Given the description of an element on the screen output the (x, y) to click on. 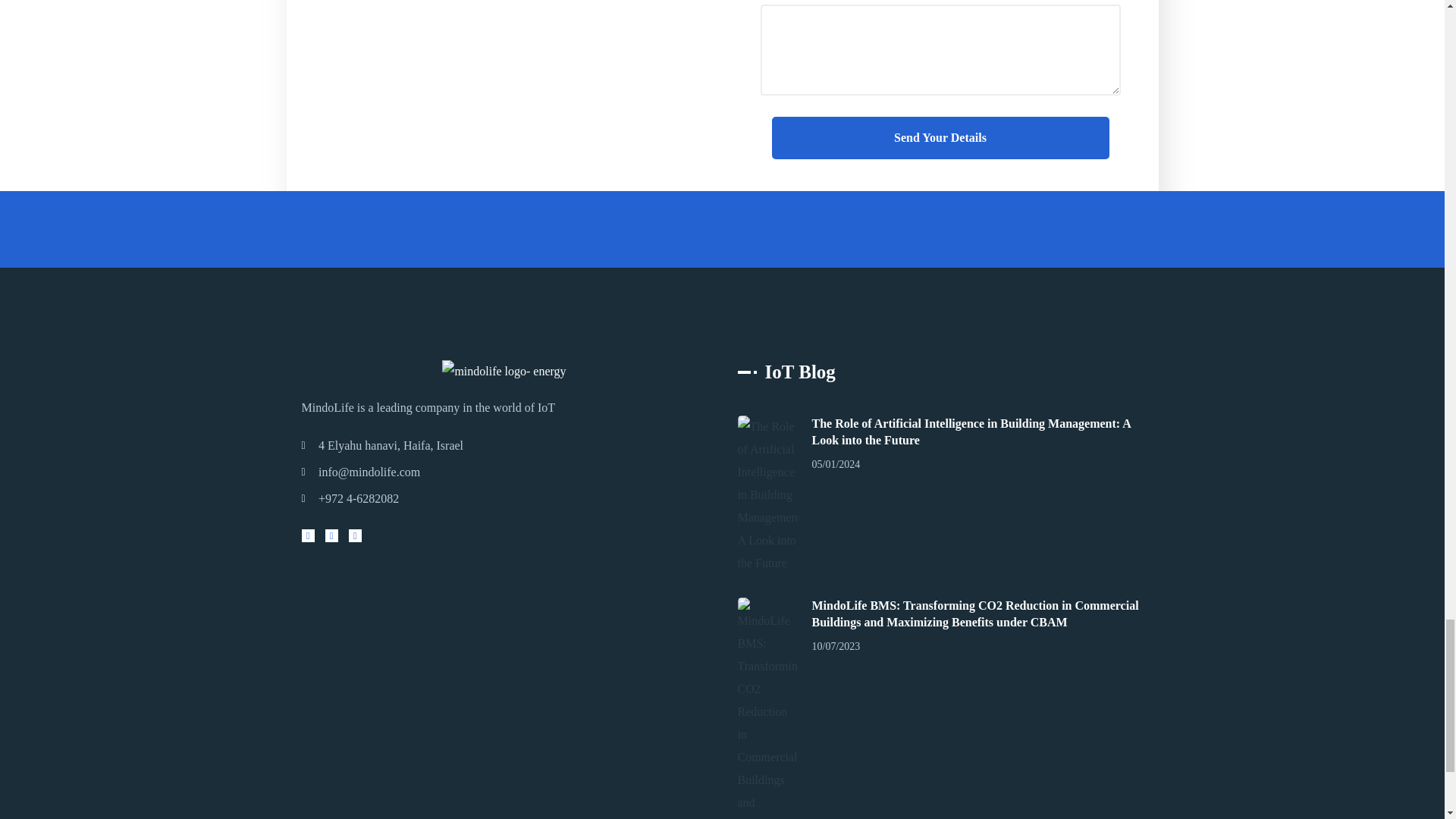
Send your details (940, 137)
Facebook (330, 535)
mindolife logo- energy (504, 371)
Youtube (307, 535)
LinkedIn (355, 535)
